Given the description of an element on the screen output the (x, y) to click on. 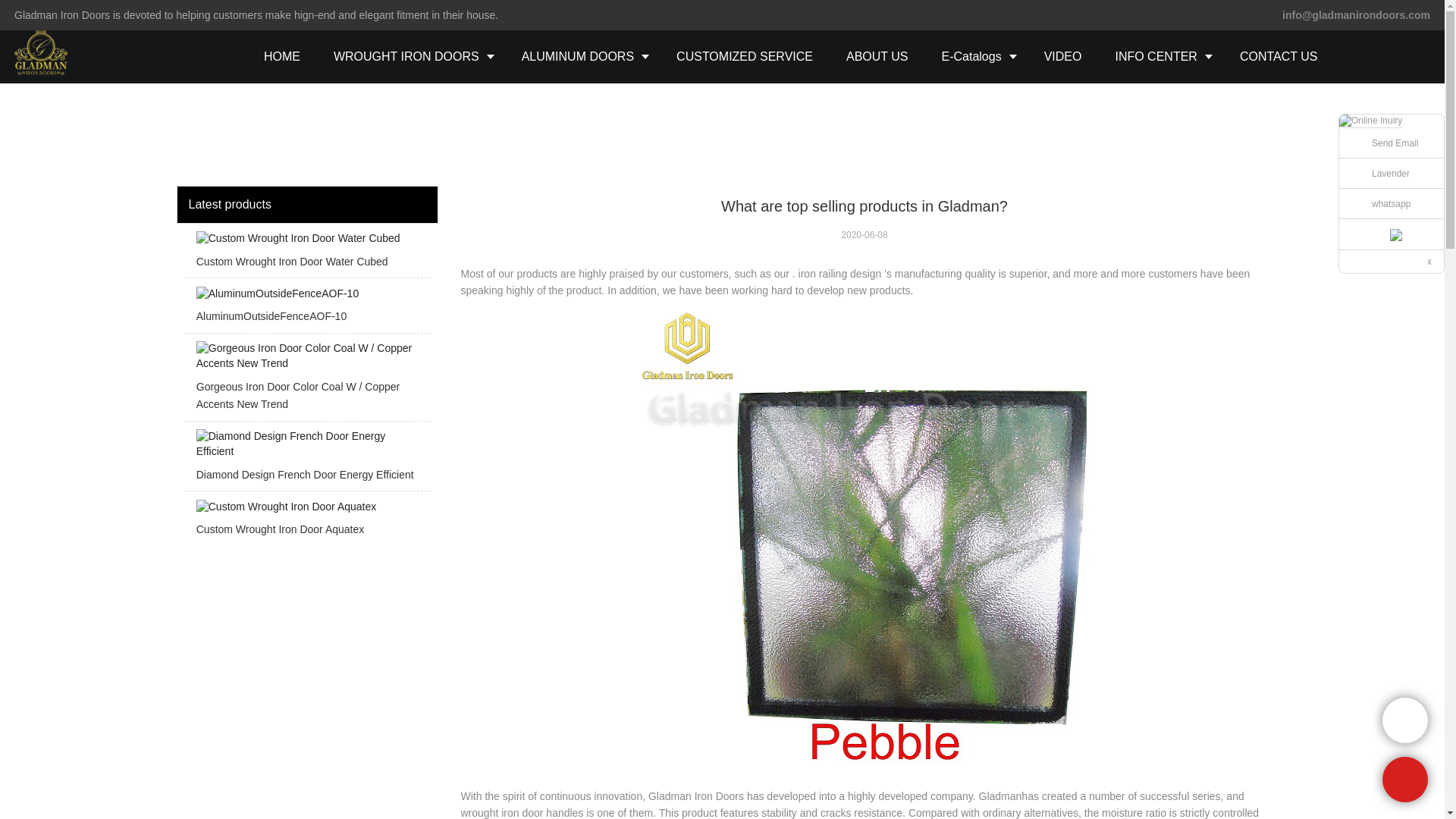
WROUGHT IRON DOORS (411, 56)
HOME (282, 56)
ALUMINUM DOORS (582, 56)
